Given the description of an element on the screen output the (x, y) to click on. 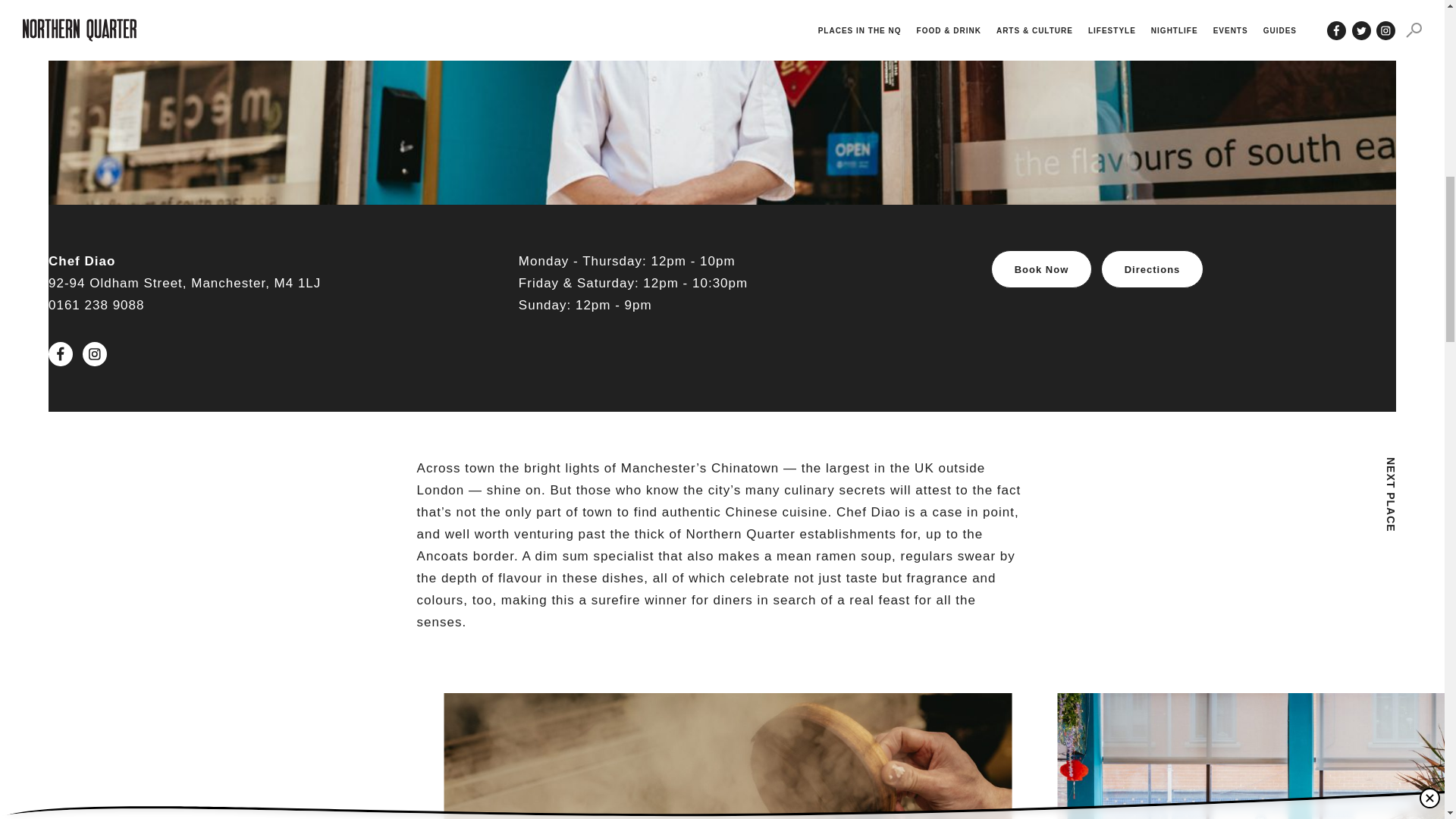
Directions (1152, 269)
Book Now (1042, 269)
